Given the description of an element on the screen output the (x, y) to click on. 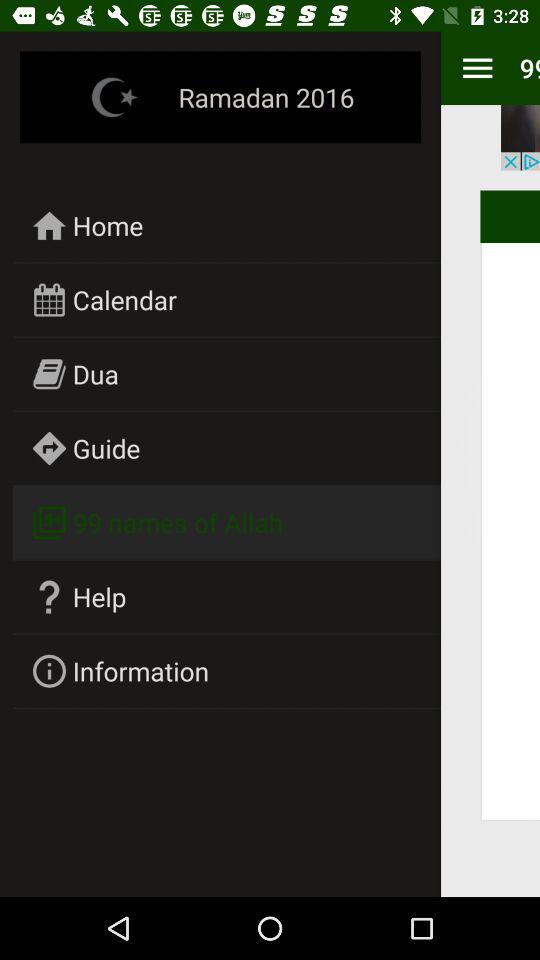
click to close option (520, 137)
